Given the description of an element on the screen output the (x, y) to click on. 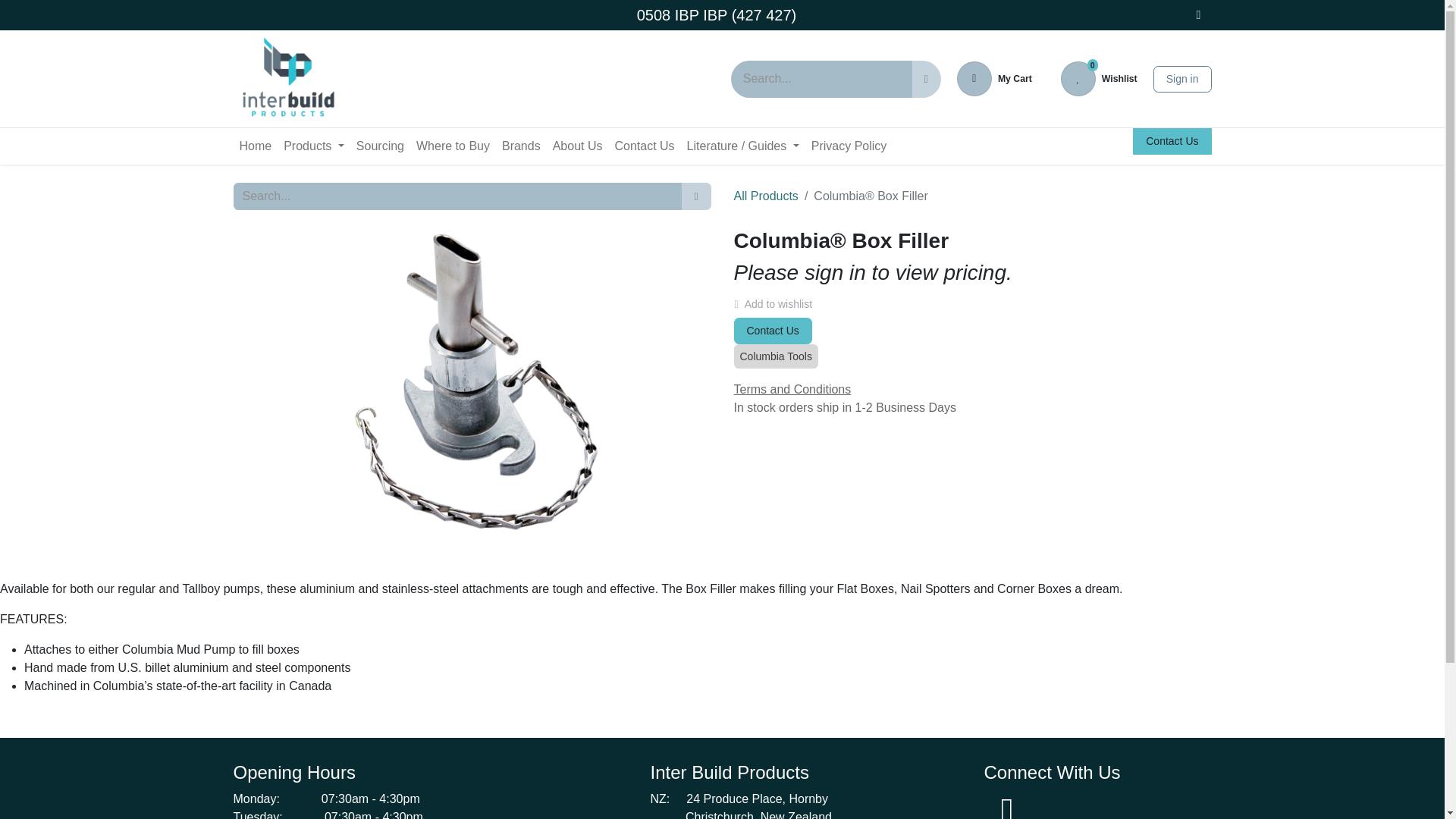
Products (314, 146)
Sign in (1182, 78)
Home (1099, 78)
Inter Build Products (255, 146)
My Cart (287, 78)
